Given the description of an element on the screen output the (x, y) to click on. 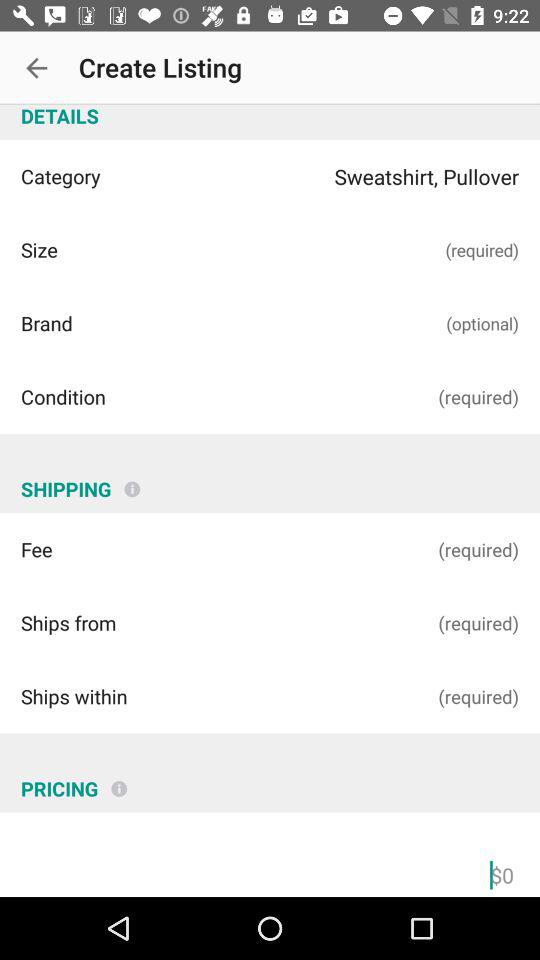
select the info button right to pricing (118, 780)
